Given the description of an element on the screen output the (x, y) to click on. 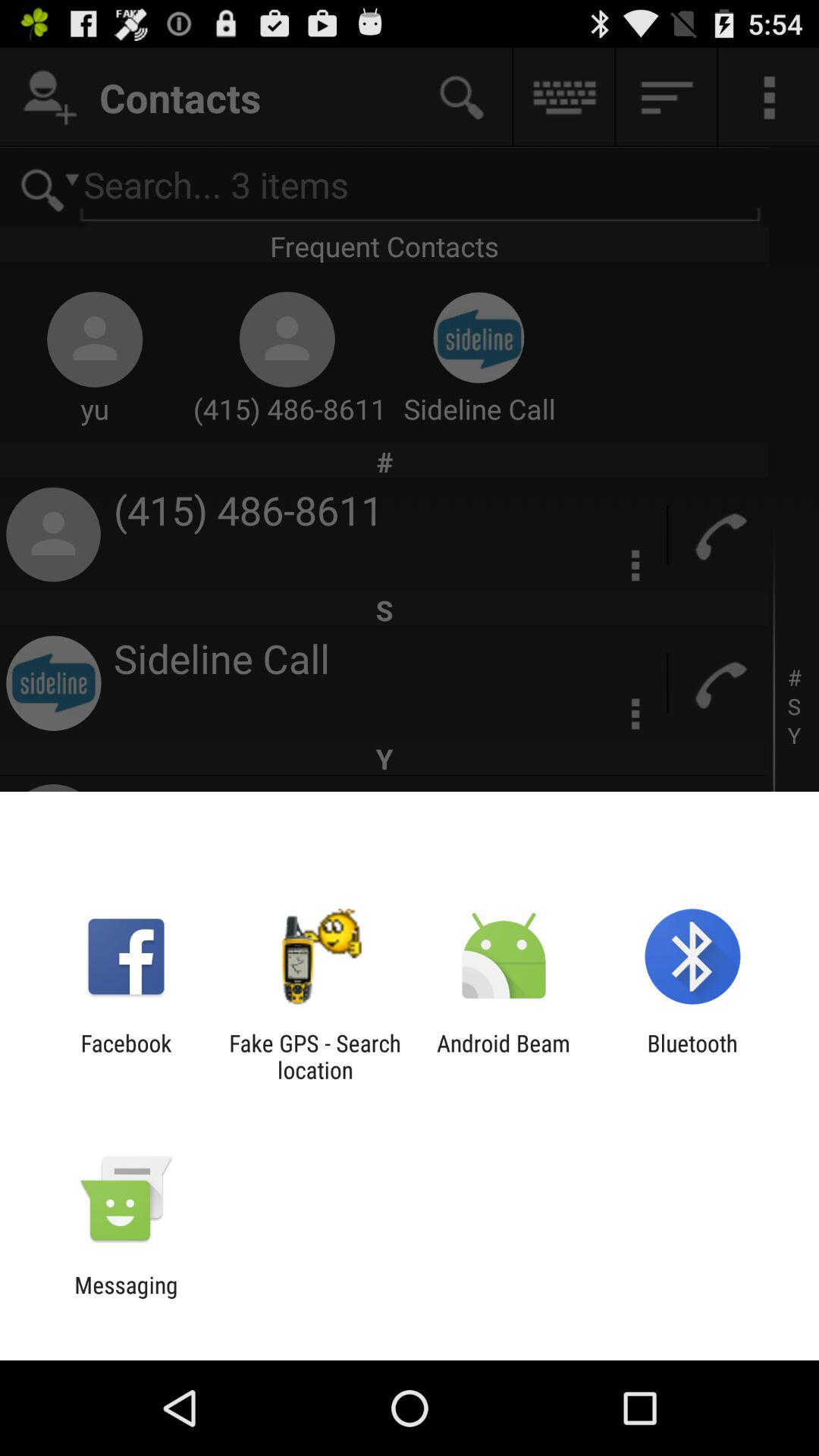
launch the android beam (503, 1056)
